Given the description of an element on the screen output the (x, y) to click on. 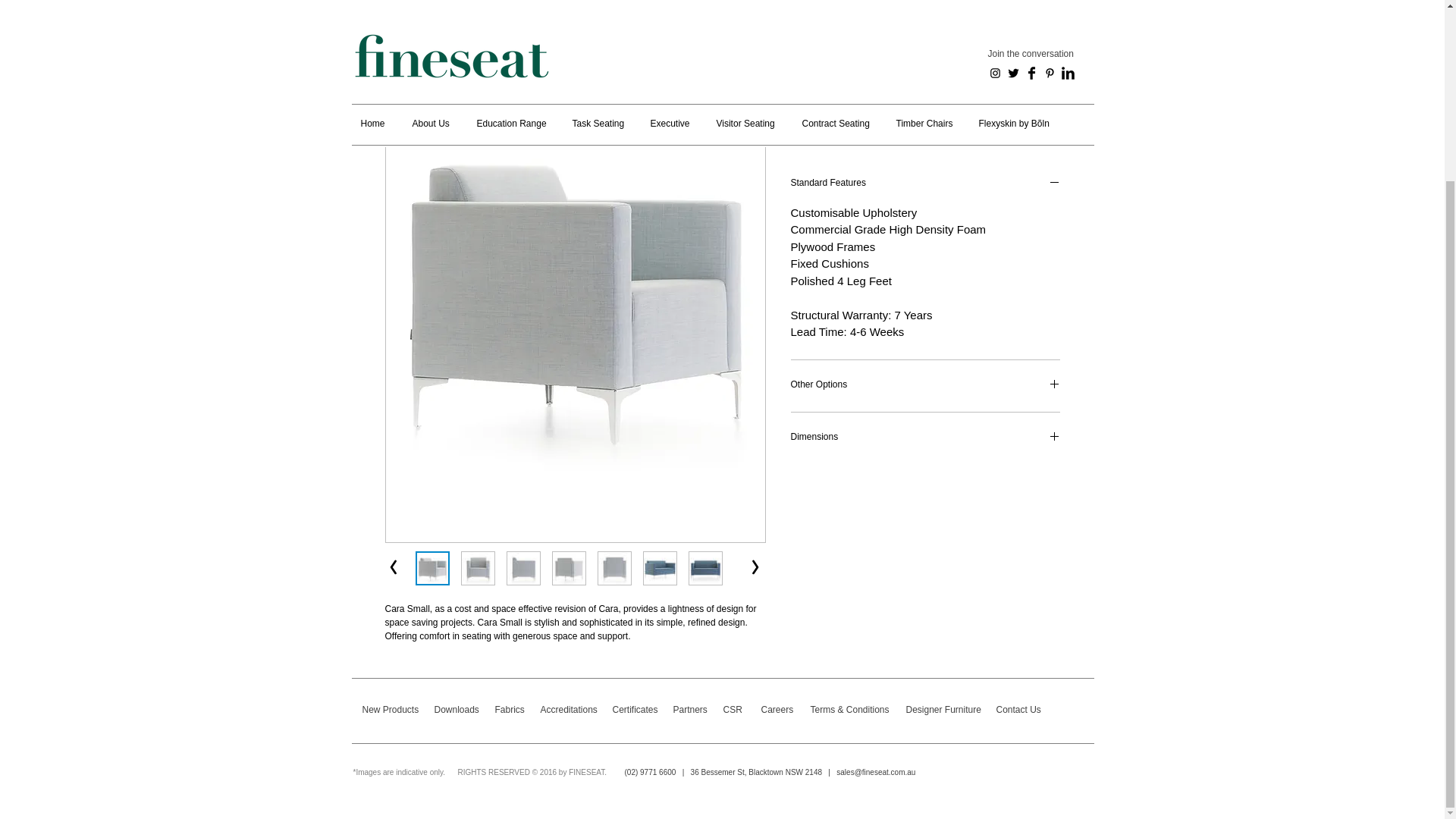
Select (924, 100)
Partners (694, 708)
Dimensions (924, 437)
Other Options (924, 385)
Standard Features (924, 183)
Fabrics (513, 708)
Downloads (458, 708)
Accreditations (569, 708)
New Products (391, 708)
Certificates (638, 708)
